Given the description of an element on the screen output the (x, y) to click on. 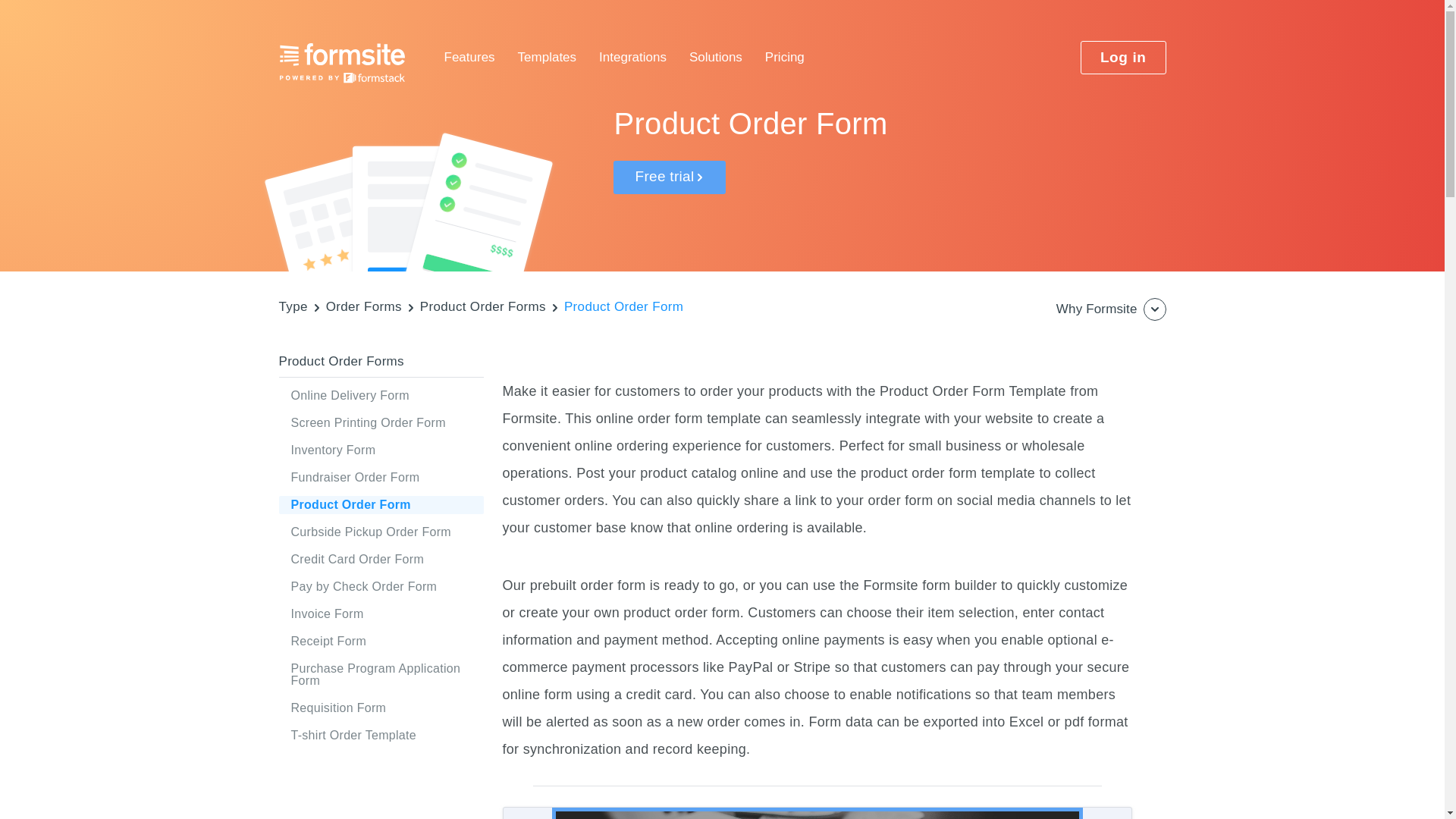
Log in (1123, 57)
Integrations (632, 57)
Product Order Form (623, 306)
Product Order Forms (483, 306)
Order Forms (363, 306)
Templates (547, 57)
Type (293, 306)
Go to the Home Page (342, 62)
Free trial (668, 177)
Integrations (632, 57)
Features (469, 57)
Features (469, 57)
Templates (547, 57)
Pricing (785, 57)
Log in (1123, 57)
